Given the description of an element on the screen output the (x, y) to click on. 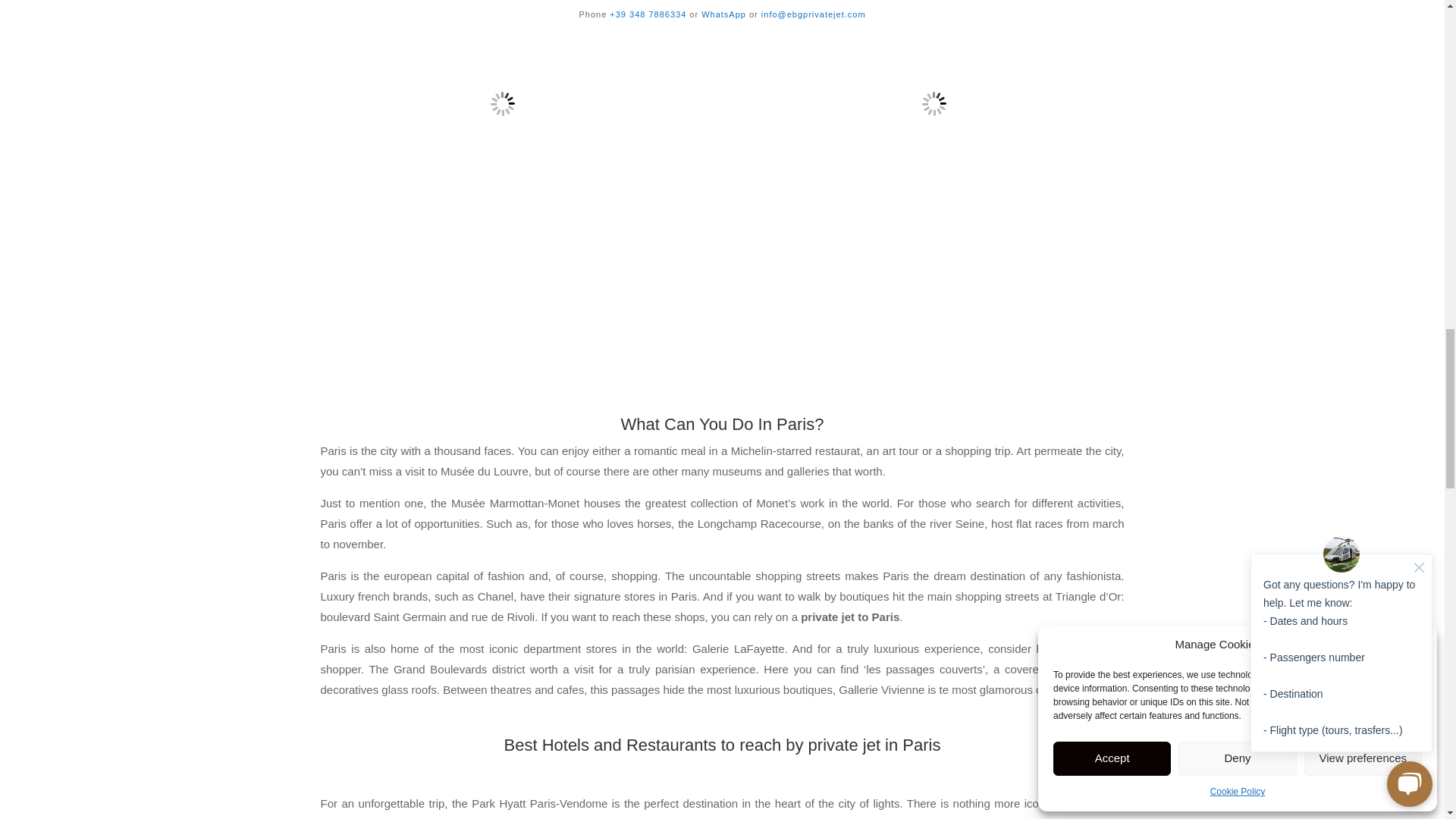
private-jet-to-paris (502, 146)
private-jet-to-paris (934, 146)
